Given the description of an element on the screen output the (x, y) to click on. 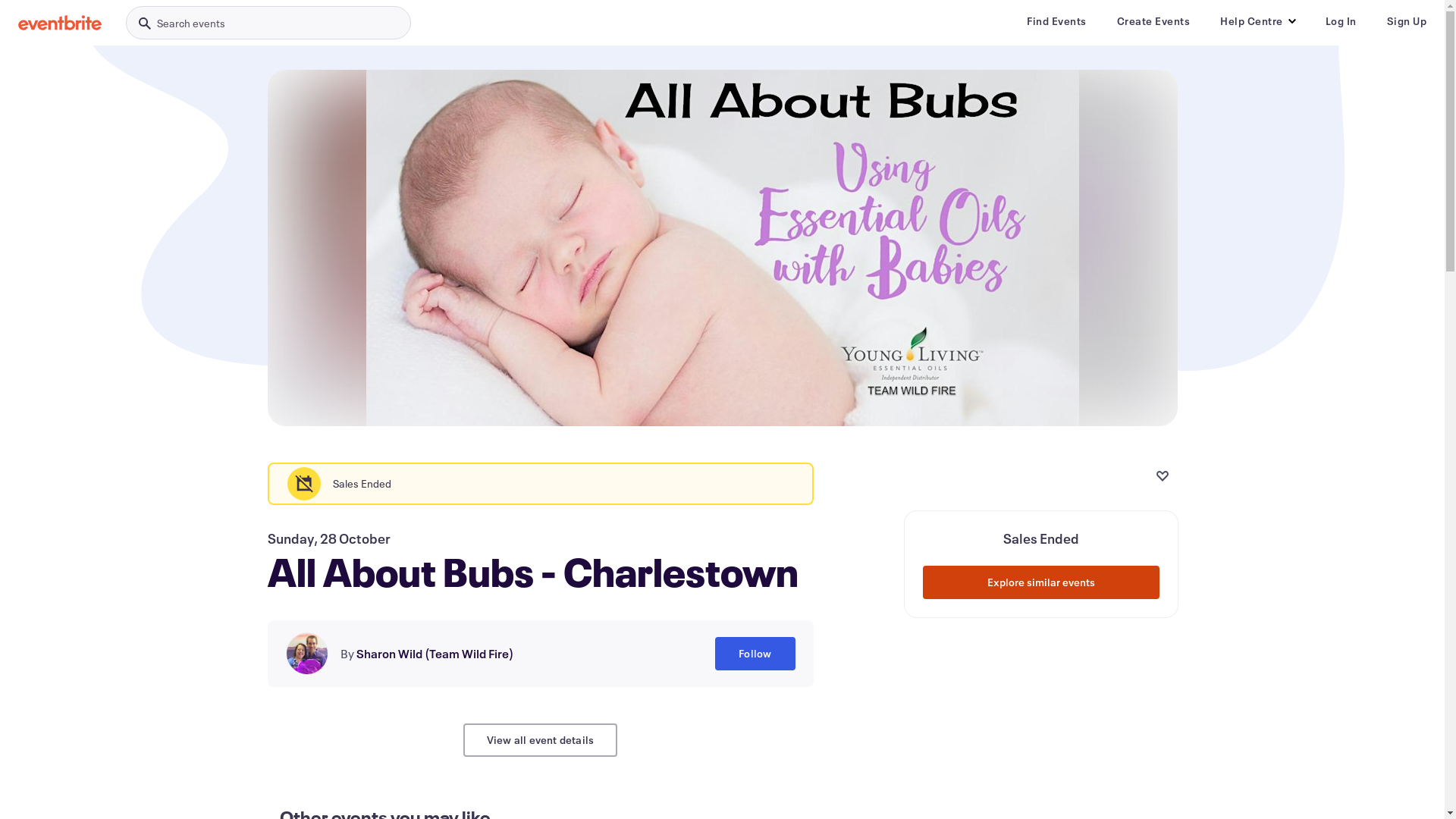
Sign Up Element type: text (1406, 21)
Explore similar events Element type: text (1040, 582)
Search events Element type: text (268, 22)
View all event details Element type: text (540, 739)
Follow Element type: text (754, 653)
Log In Element type: text (1340, 21)
Create Events Element type: text (1152, 21)
Find Events Element type: text (1056, 21)
Eventbrite Element type: hover (59, 22)
